Given the description of an element on the screen output the (x, y) to click on. 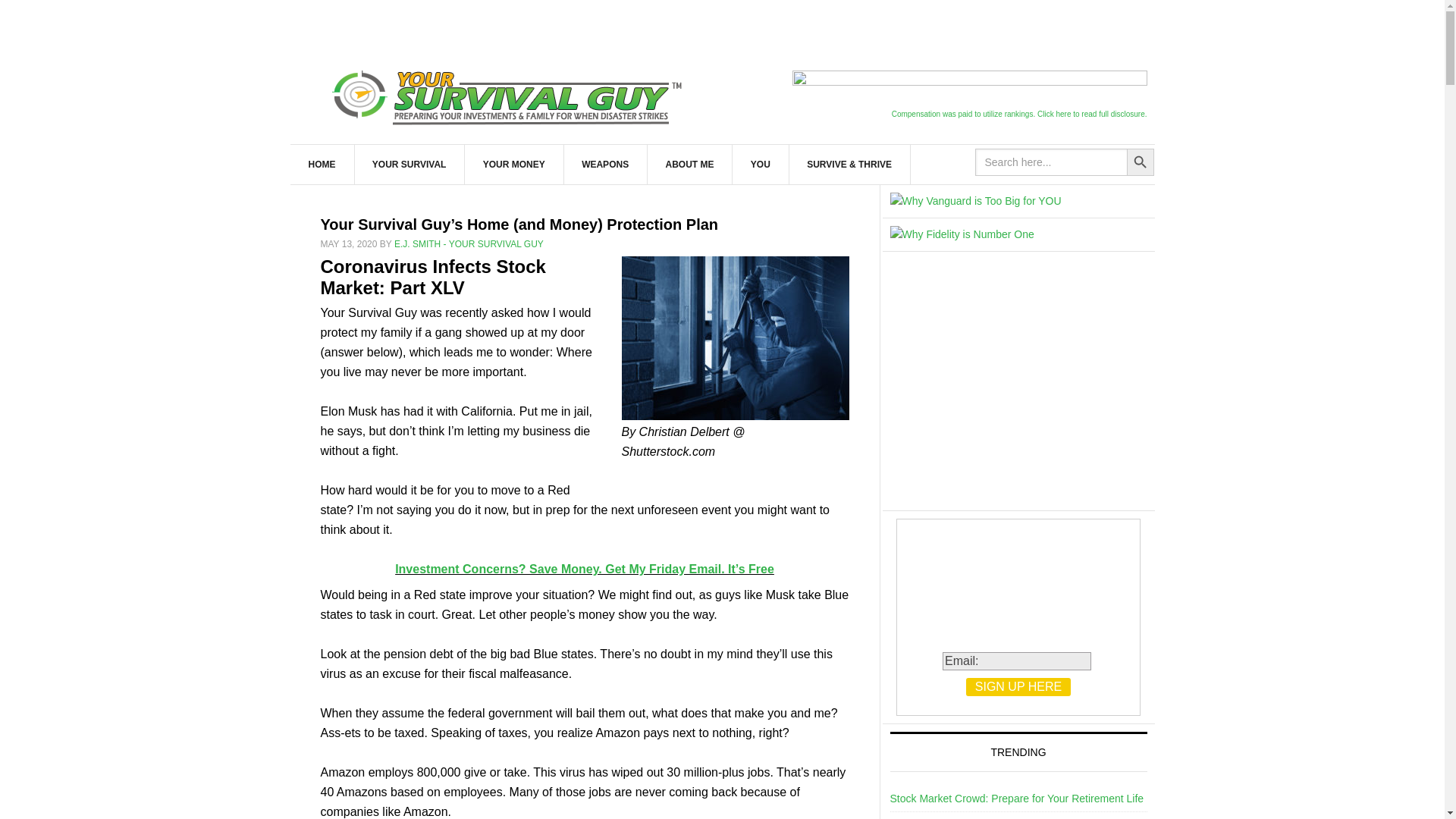
YOUR MONEY (514, 164)
Email: (1016, 660)
YOUR SURVIVAL (409, 164)
Sign Up Here (1018, 687)
HOME (321, 164)
WEAPONS (605, 164)
YOUR SURVIVAL GUY (509, 94)
